Given the description of an element on the screen output the (x, y) to click on. 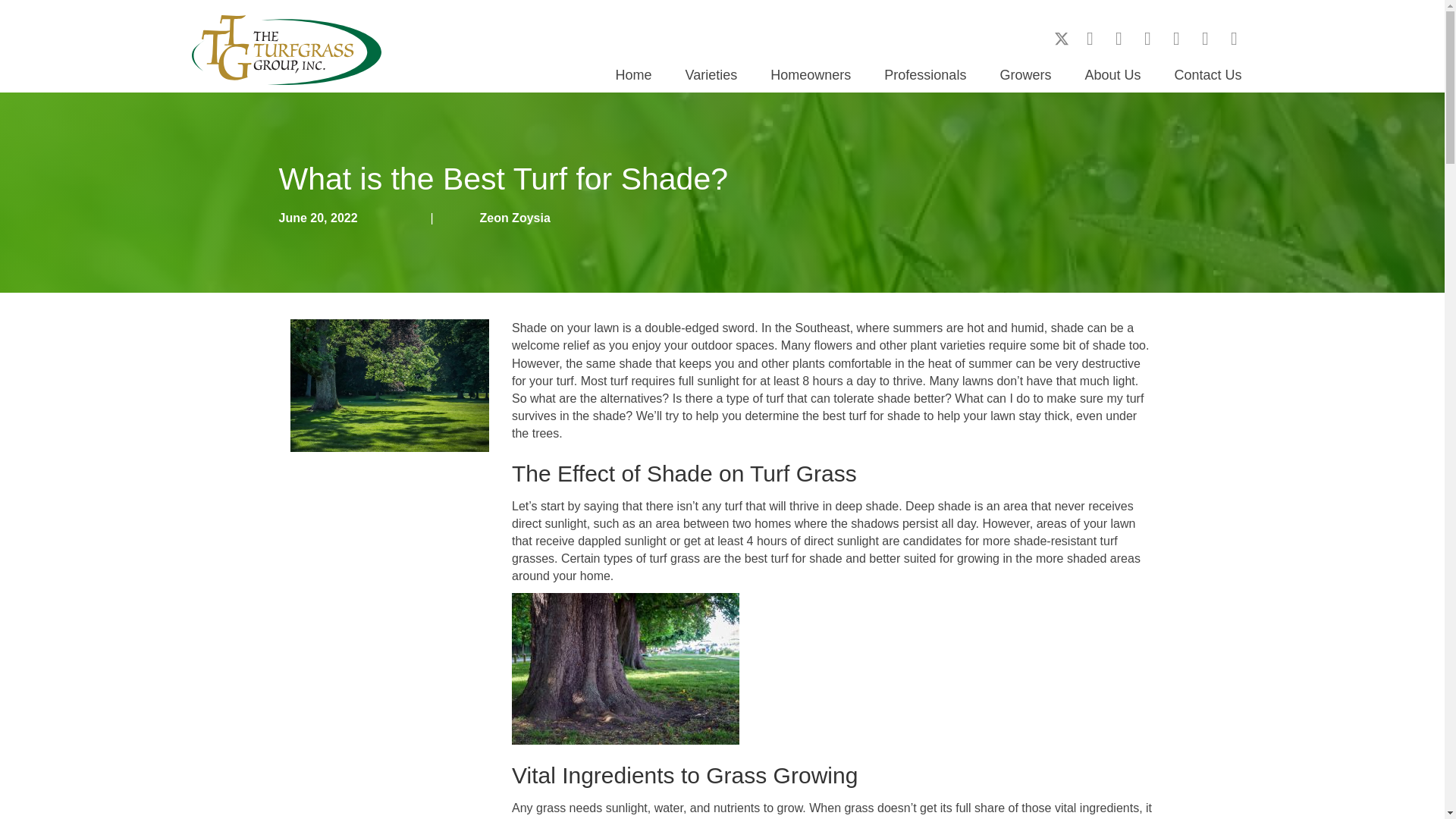
ttg-color-logo (285, 50)
Homeowners (809, 74)
Varieties (711, 74)
Contact Us (1206, 74)
Growers (1025, 74)
Facebook (1090, 38)
YouTube (1148, 38)
Pinterest (1234, 38)
Home (633, 74)
Instagram (1119, 38)
LinkedIn (1177, 38)
Professionals (924, 74)
About Us (1112, 74)
